Given the description of an element on the screen output the (x, y) to click on. 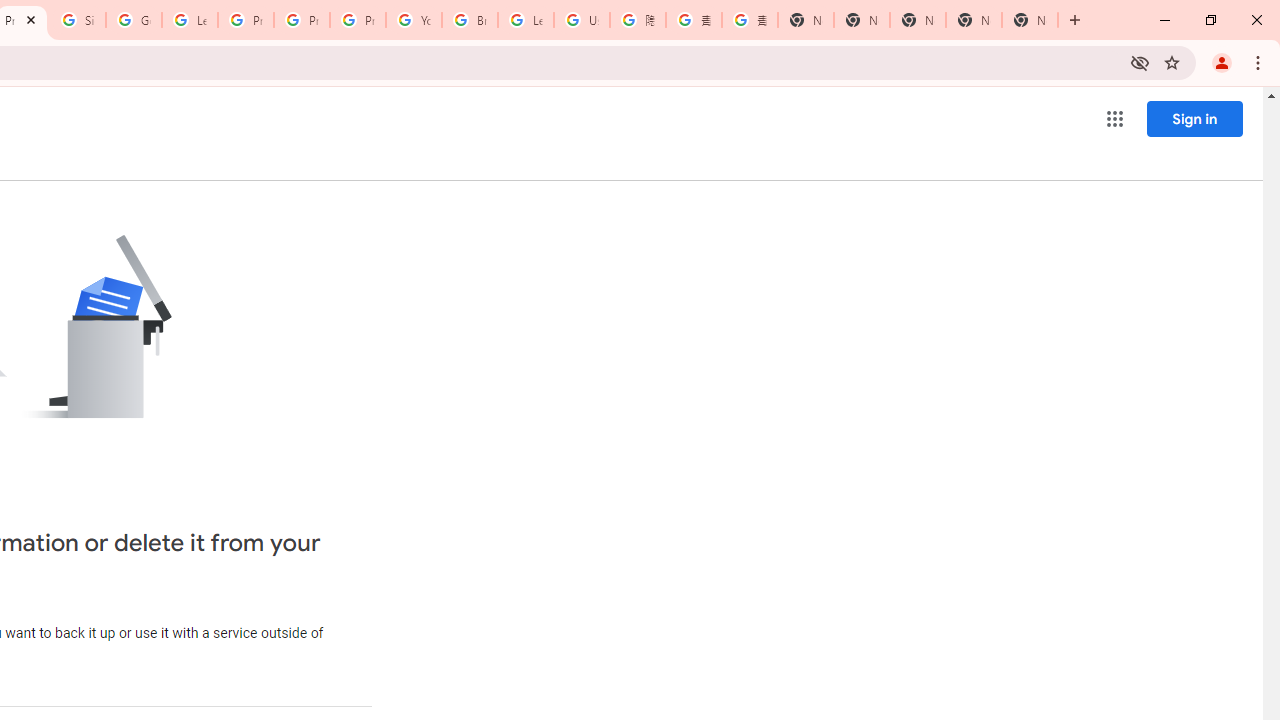
New Tab (1030, 20)
